Given the description of an element on the screen output the (x, y) to click on. 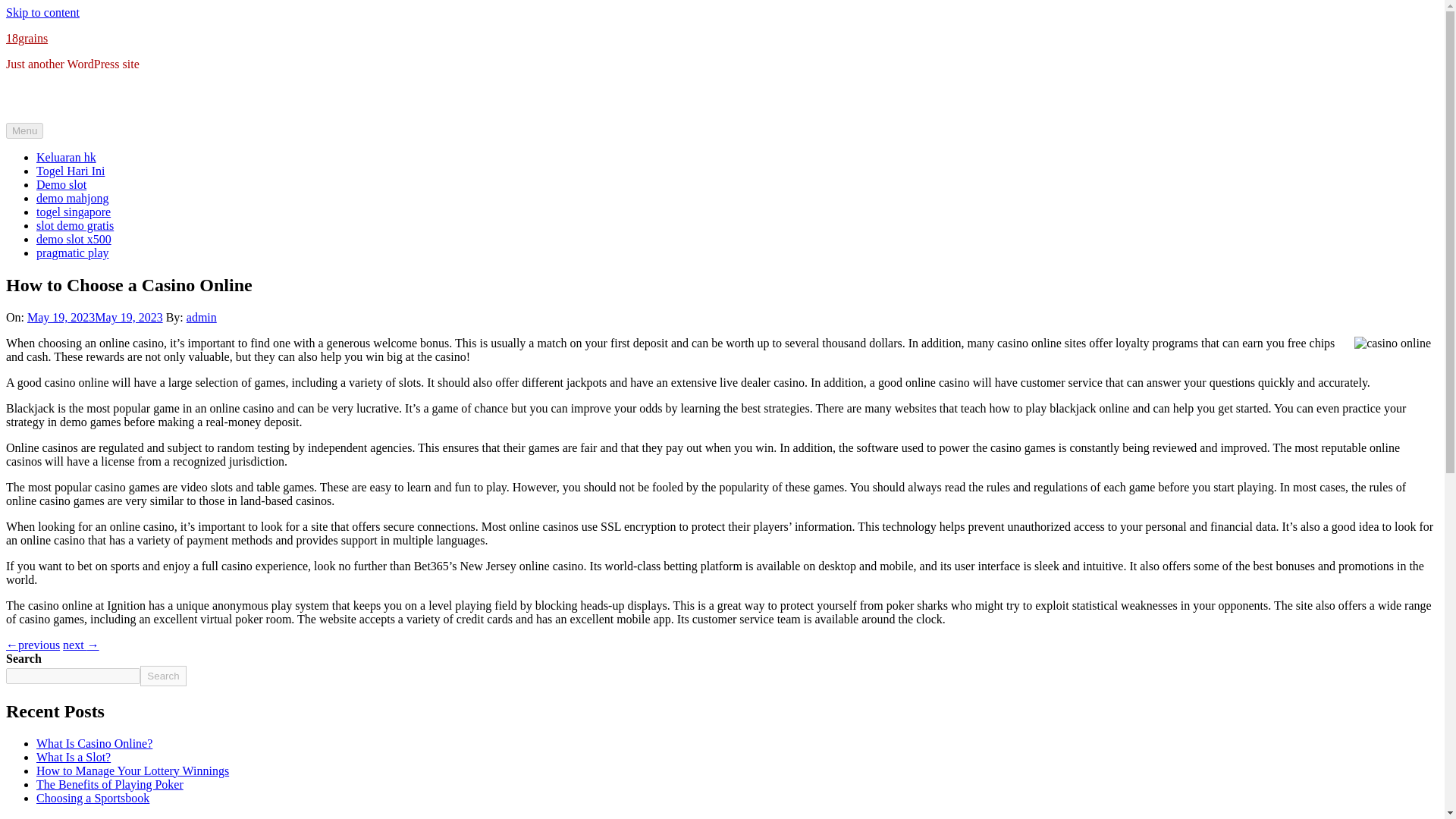
The Benefits of Playing Poker (109, 784)
slot demo gratis (74, 225)
admin (201, 317)
Skip to content (42, 11)
What Is Casino Online? (94, 743)
Togel Hari Ini (70, 170)
demo mahjong (72, 197)
18grains (26, 38)
togel singapore (73, 211)
Demo slot (60, 184)
